Given the description of an element on the screen output the (x, y) to click on. 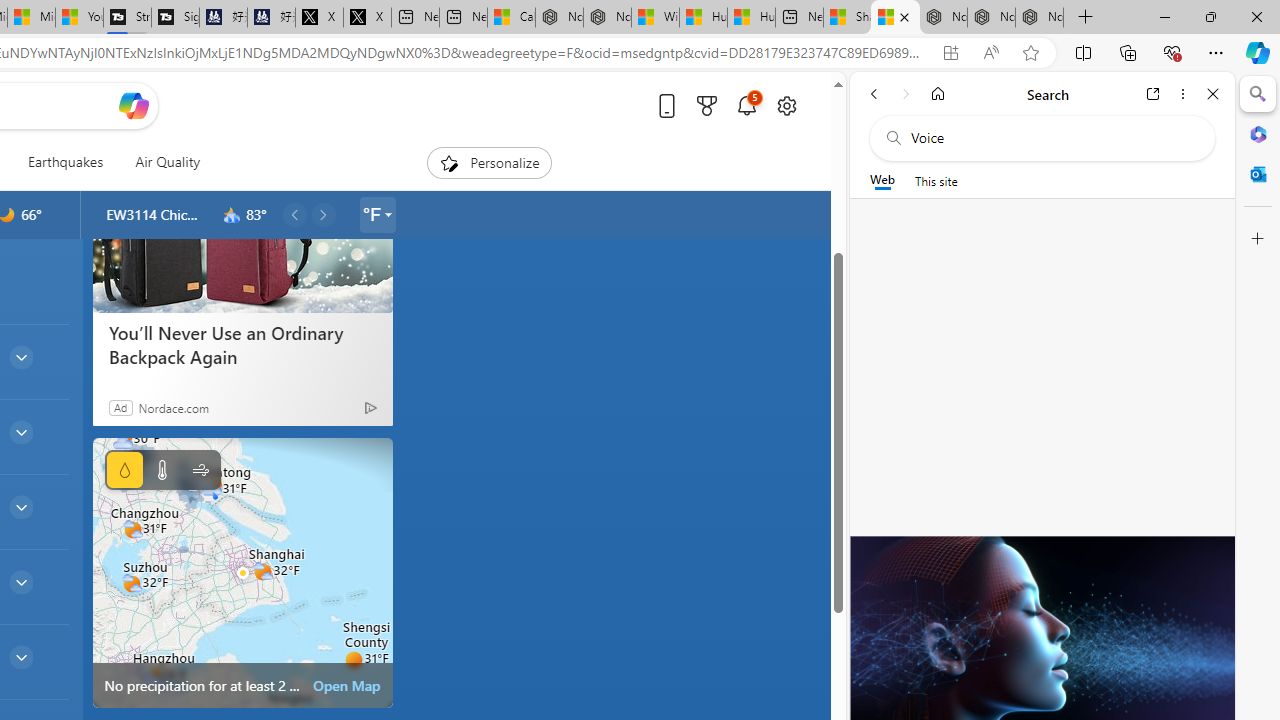
common/carouselChevron (323, 214)
n3200 (232, 215)
Open Map (347, 685)
Air Quality (167, 162)
Temperature (161, 470)
Web scope (882, 180)
No precipitation for at least 2 hours (242, 572)
Earthquakes (65, 162)
Precipitation (124, 470)
